Given the description of an element on the screen output the (x, y) to click on. 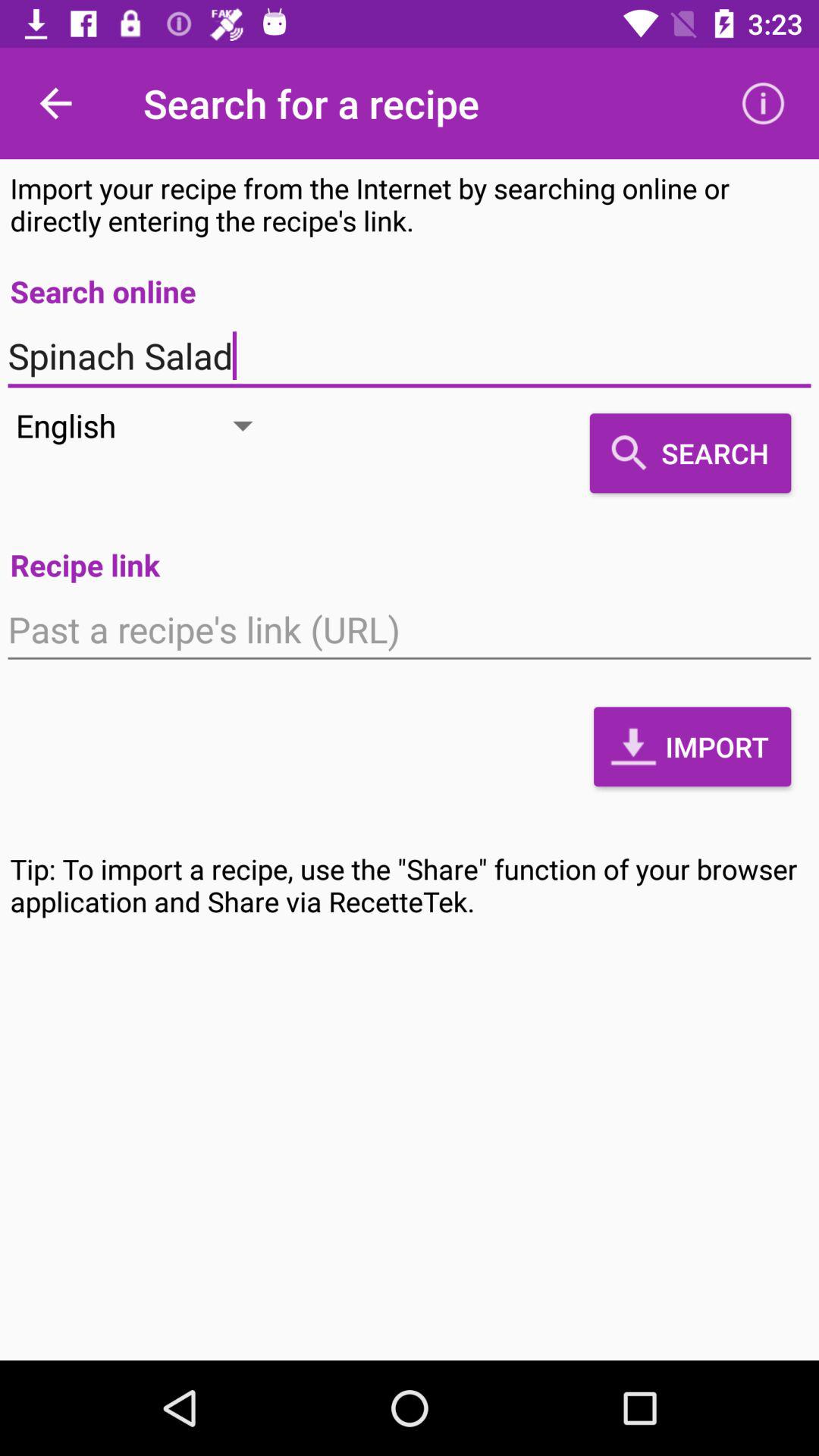
swipe to spinach salad item (409, 356)
